Given the description of an element on the screen output the (x, y) to click on. 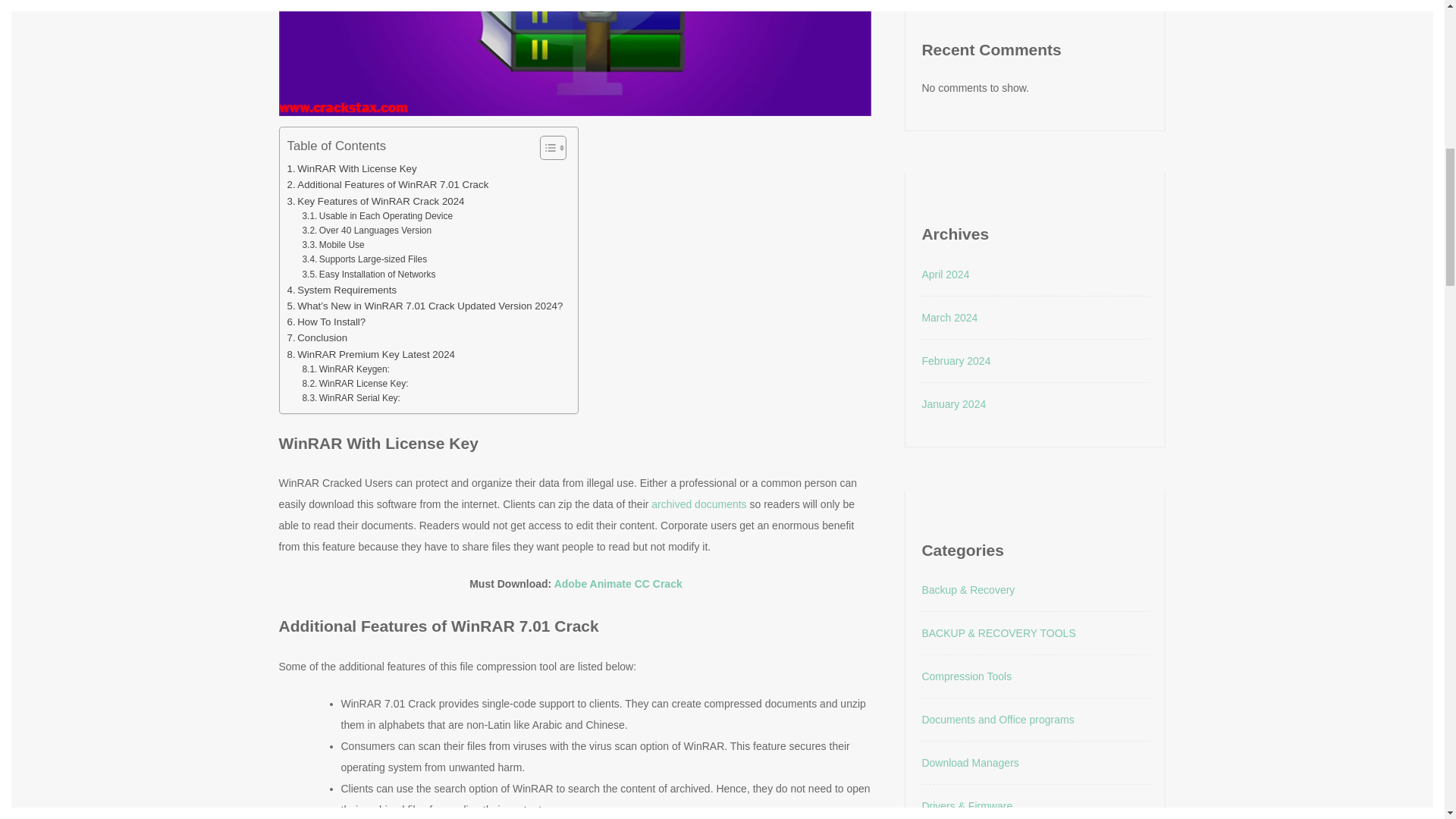
WinRAR Serial Key: (349, 398)
Mobile Use (332, 245)
Supports Large-sized Files (363, 259)
How To Install? (325, 321)
WinRAR Keygen: (345, 369)
Additional Features of WinRAR 7.01 Crack (386, 184)
Key Features of WinRAR Crack 2024 (375, 201)
archived documents (697, 503)
Additional Features of WinRAR 7.01 Crack (386, 184)
WinRAR Premium Key Latest 2024 (370, 354)
WinRAR License Key: (354, 383)
How To Install? (325, 321)
Usable in Each Operating Device (376, 216)
WinRAR Serial Key: (349, 398)
System Requirements (341, 289)
